Given the description of an element on the screen output the (x, y) to click on. 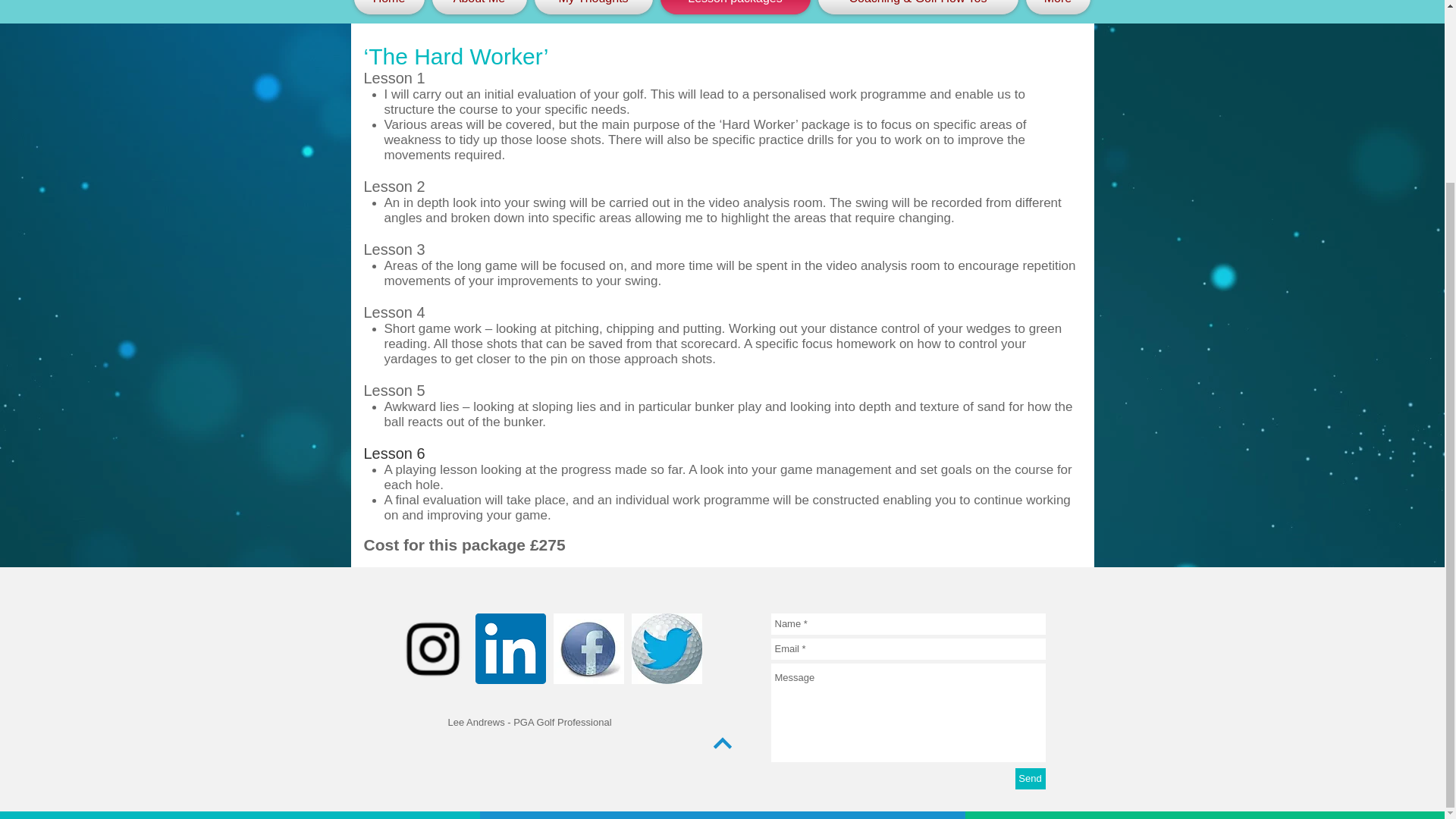
About Me (478, 7)
Home (390, 7)
Lesson packages (734, 7)
My Thoughts (593, 7)
